Given the description of an element on the screen output the (x, y) to click on. 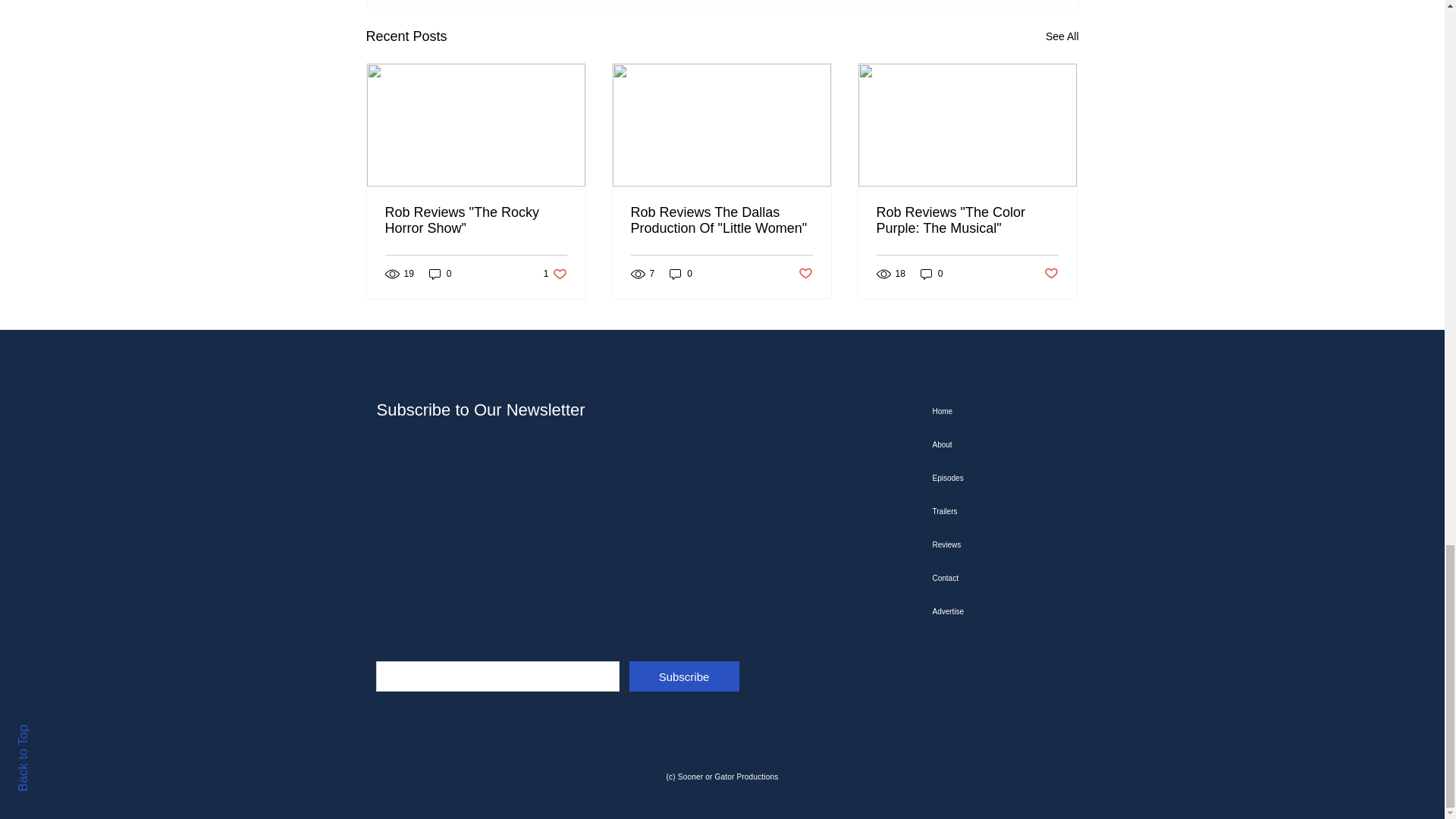
Rob Reviews The Dallas Production Of "Little Women" (721, 220)
Rob Reviews "The Rocky Horror Show" (555, 273)
See All (476, 220)
Post not marked as liked (1061, 36)
Rob Reviews "The Color Purple: The Musical" (804, 273)
Post not marked as liked (967, 220)
0 (1050, 273)
0 (440, 273)
0 (931, 273)
